Given the description of an element on the screen output the (x, y) to click on. 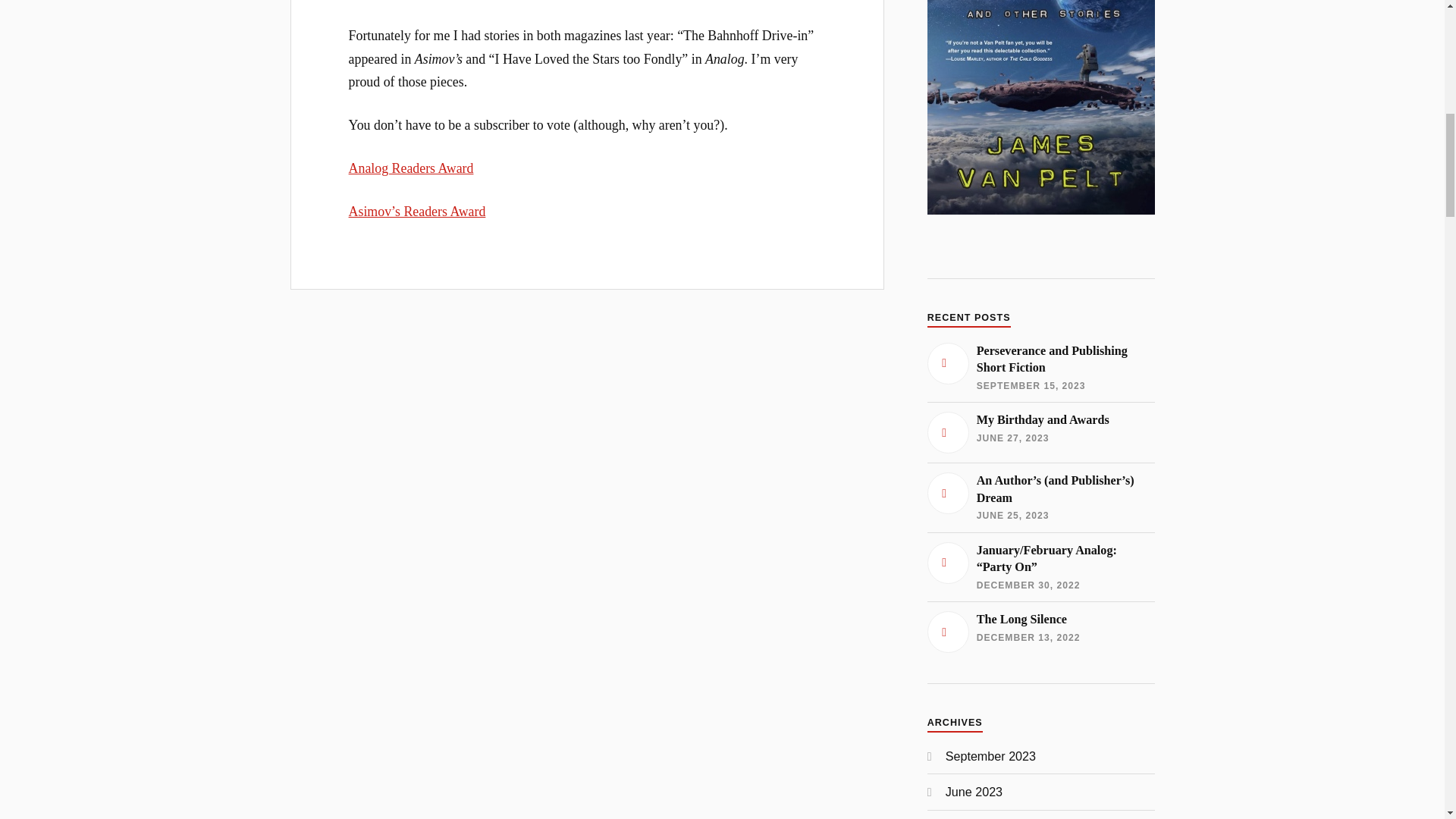
Analog Readers Award (411, 168)
June 2023 (973, 791)
September 2023 (1040, 631)
